Given the description of an element on the screen output the (x, y) to click on. 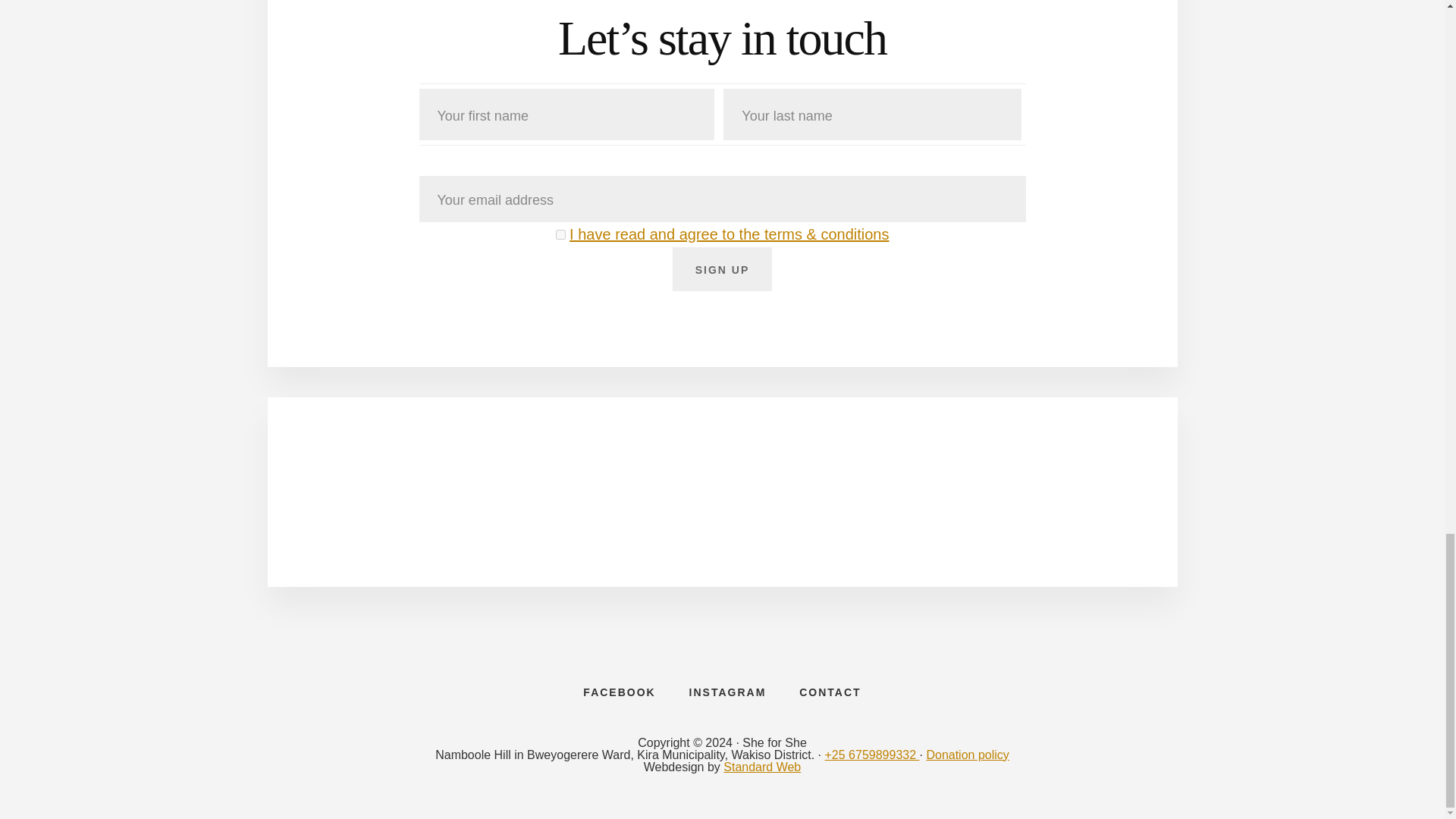
1 (561, 234)
FACEBOOK (618, 691)
INSTAGRAM (727, 691)
Donation policy (967, 754)
Sign up (722, 269)
Standard Web (761, 766)
Sign up (722, 269)
CONTACT (830, 691)
